Given the description of an element on the screen output the (x, y) to click on. 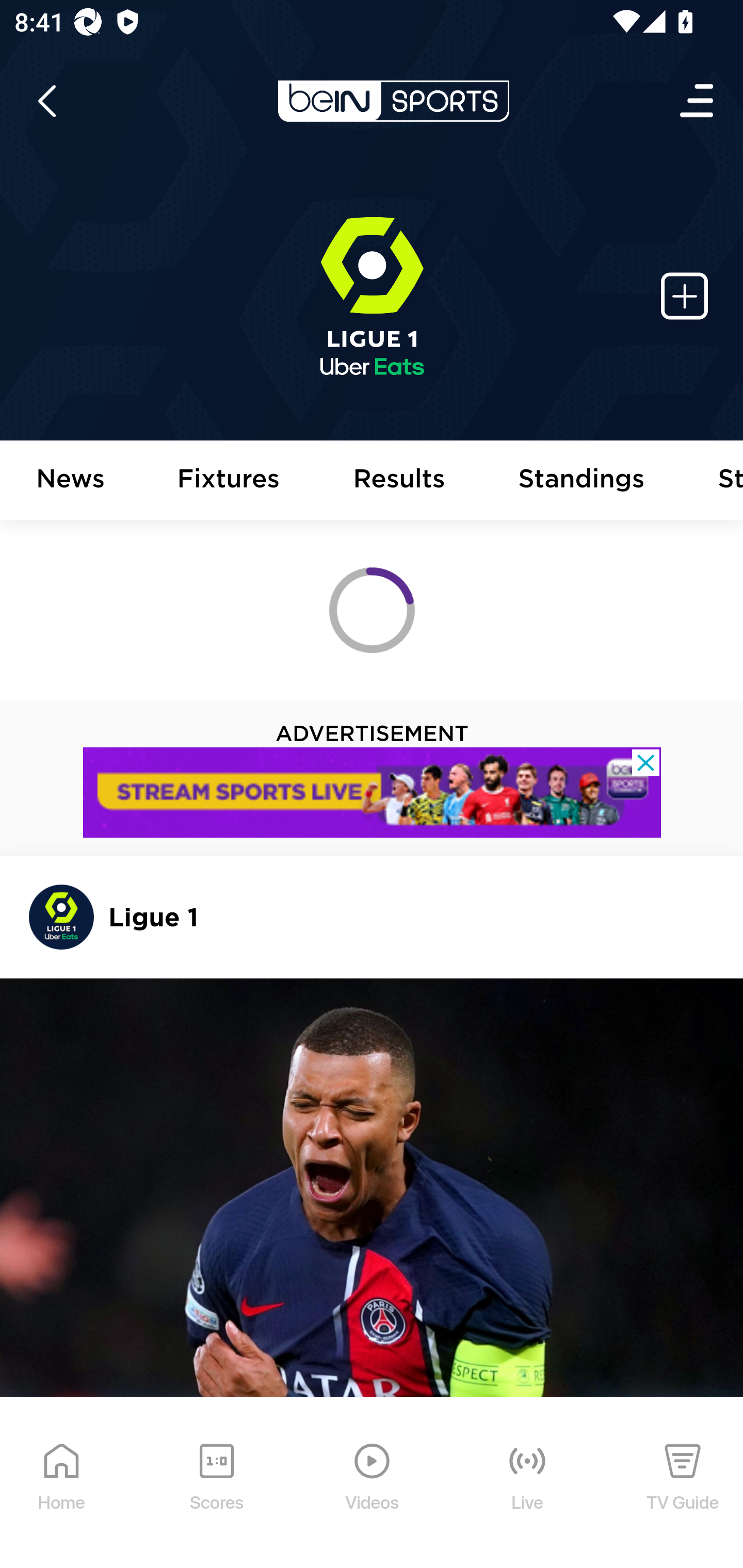
en-my?platform=mobile_android bein logo white (392, 101)
icon back (46, 101)
Open Menu Icon (697, 101)
News (70, 480)
Fixtures (229, 480)
Results (399, 480)
Standings (581, 480)
l8psv8uu (372, 792)
Home Home Icon Home (61, 1491)
Scores Scores Icon Scores (216, 1491)
Videos Videos Icon Videos (372, 1491)
TV Guide TV Guide Icon TV Guide (682, 1491)
